Given the description of an element on the screen output the (x, y) to click on. 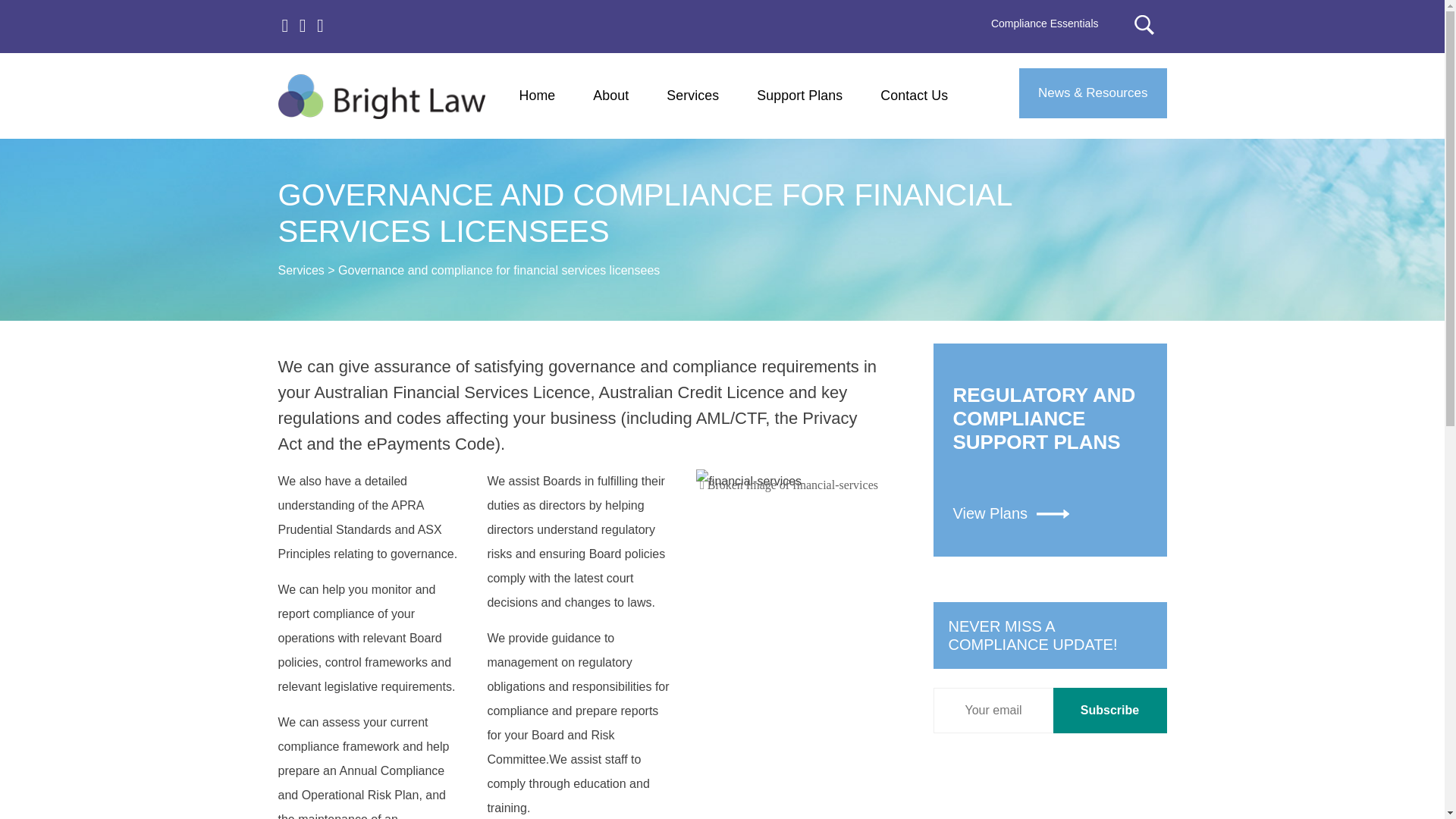
Subscribe (1109, 710)
Services (300, 269)
Go to Services. (300, 269)
Support Plans (799, 95)
Services (692, 95)
Compliance Essentials (1049, 449)
Subscribe (1044, 23)
About (1109, 710)
Home (610, 95)
Contact Us (537, 95)
